Given the description of an element on the screen output the (x, y) to click on. 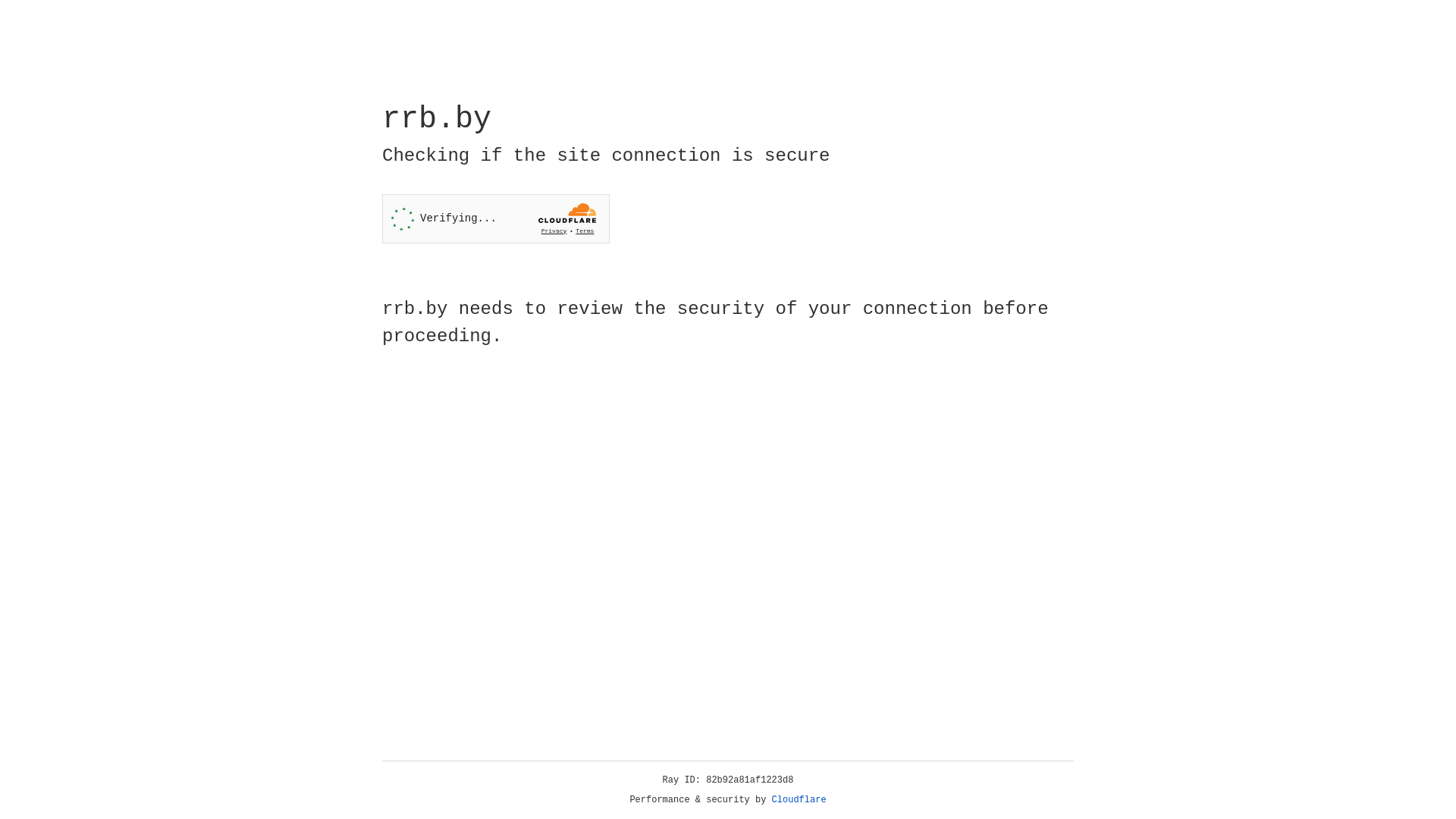
Cloudflare Element type: text (798, 799)
Widget containing a Cloudflare security challenge Element type: hover (495, 218)
